Given the description of an element on the screen output the (x, y) to click on. 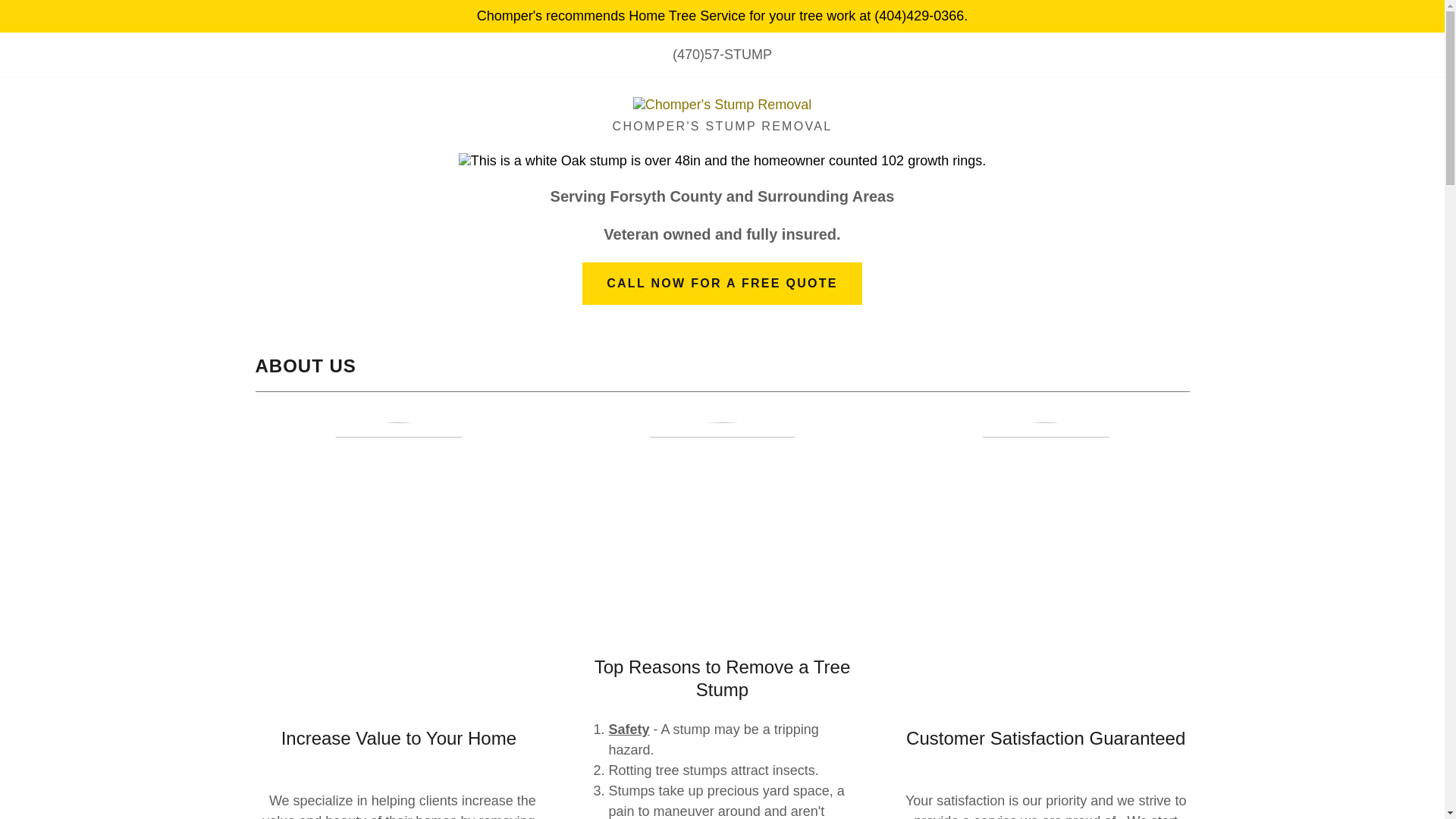
Chomper's Stump Removal (722, 103)
CALL NOW FOR A FREE QUOTE (721, 283)
